Given the description of an element on the screen output the (x, y) to click on. 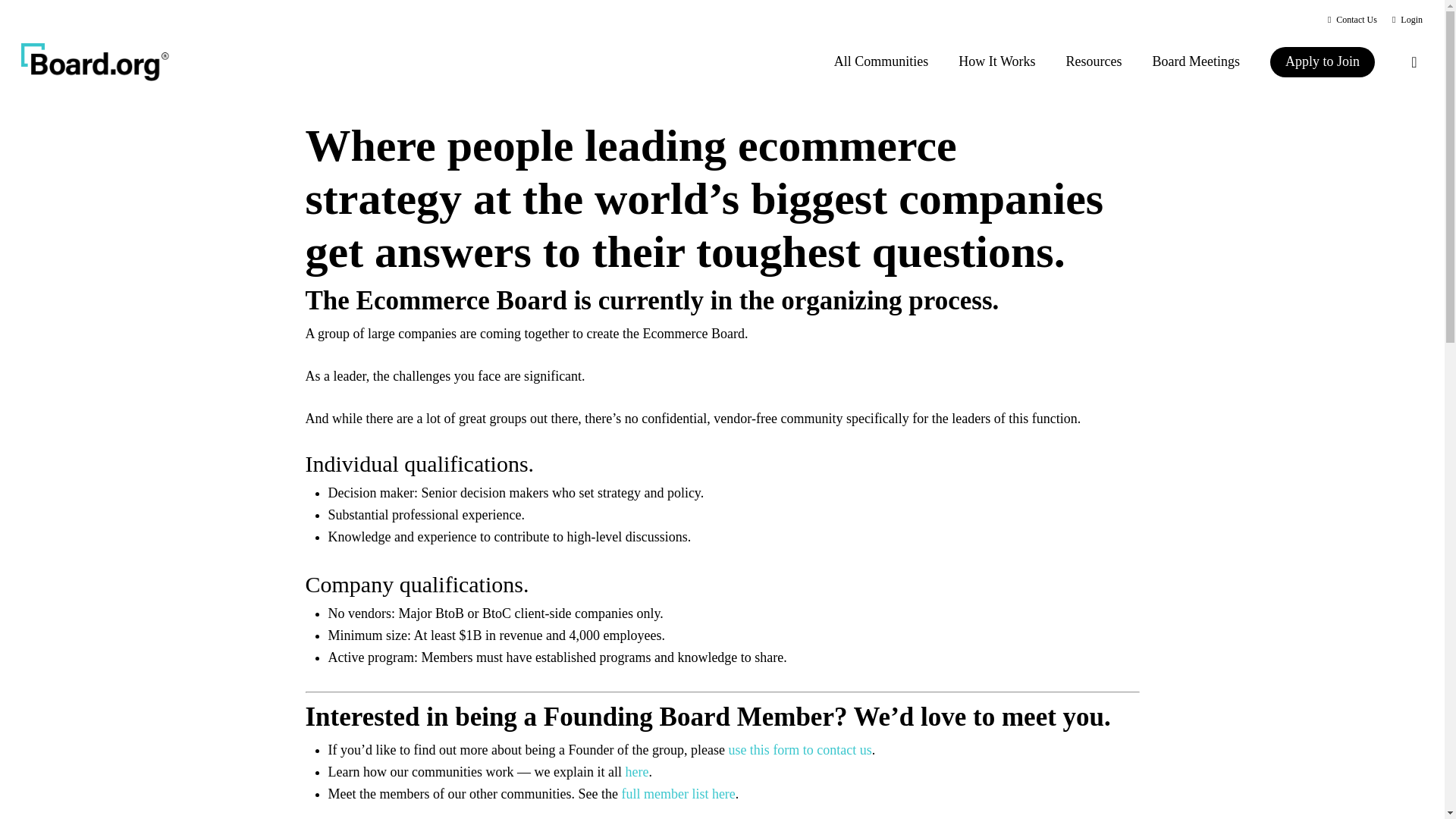
All Communities (880, 61)
Board Meetings (1196, 61)
Resources (1094, 61)
How It Works (996, 61)
Contact Us (1352, 19)
Login (1406, 19)
